Given the description of an element on the screen output the (x, y) to click on. 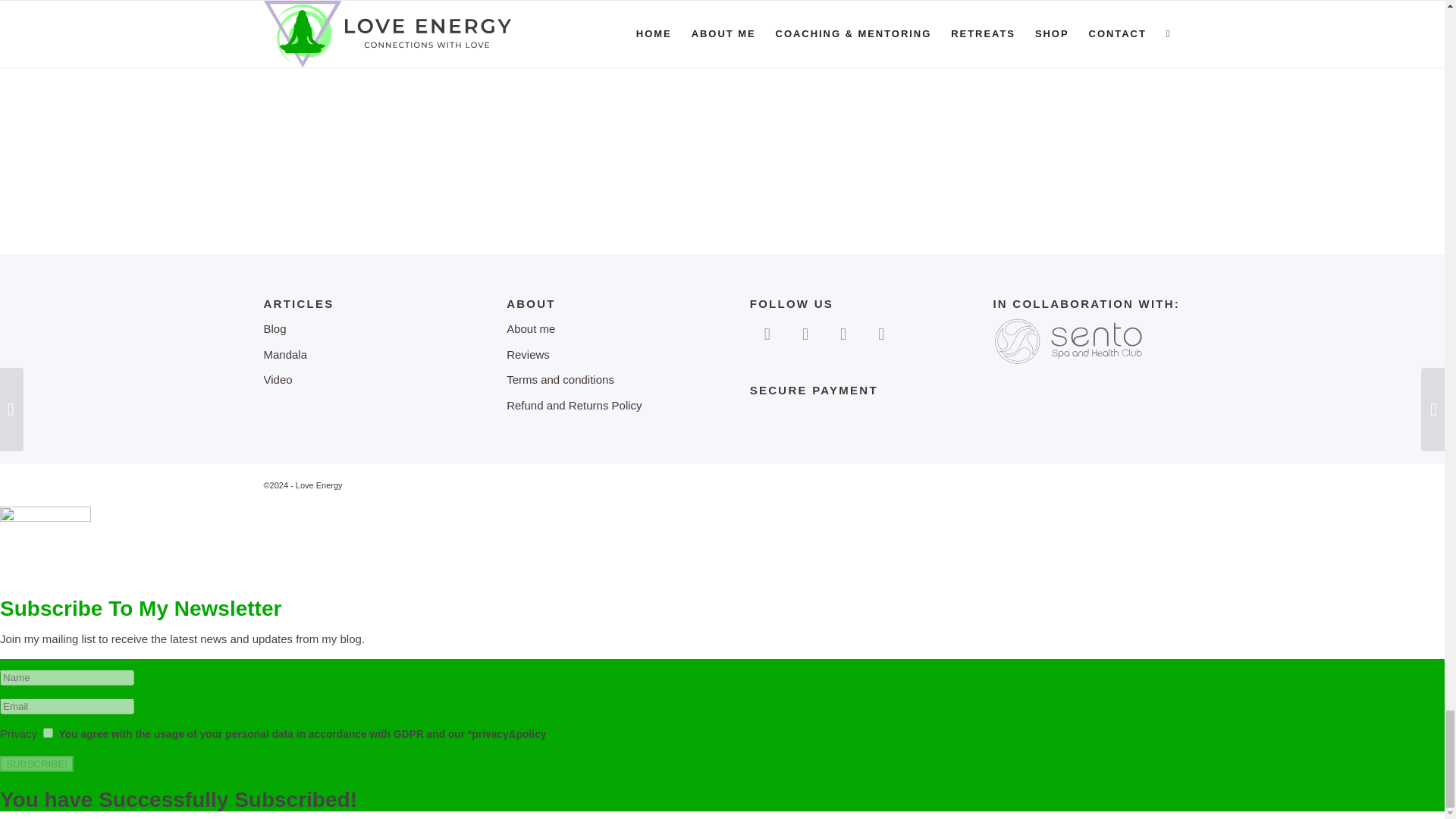
SUBSCRIBE! (37, 763)
Terms and conditions (600, 380)
Reviews (600, 355)
Mandala (357, 355)
Instagram (804, 332)
Refund and Returns Policy (600, 406)
Video (357, 380)
Telephone (880, 332)
Facebook (766, 332)
About me (600, 329)
Blog (357, 329)
YouTube (842, 332)
